Given the description of an element on the screen output the (x, y) to click on. 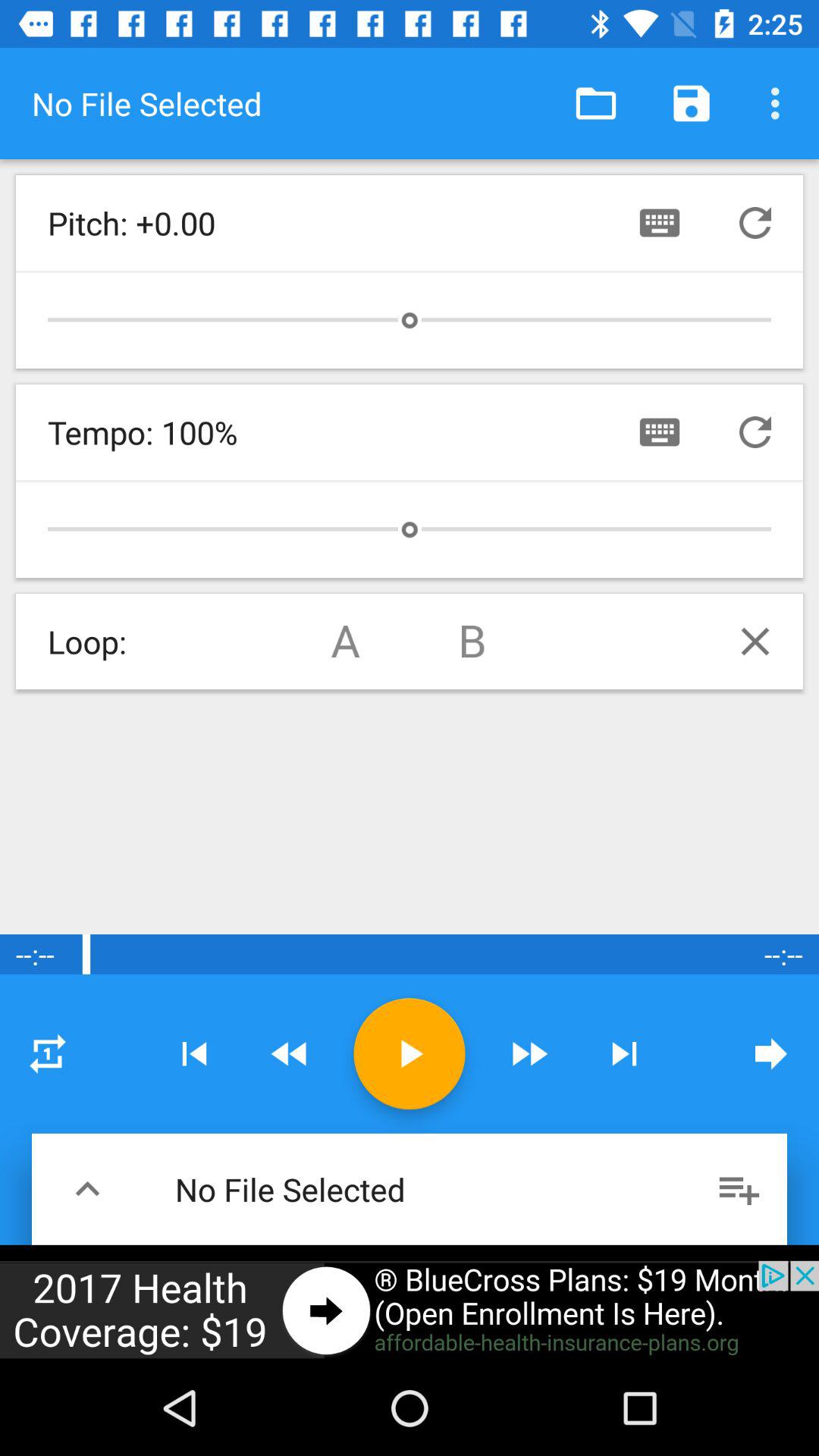
play (409, 1053)
